Given the description of an element on the screen output the (x, y) to click on. 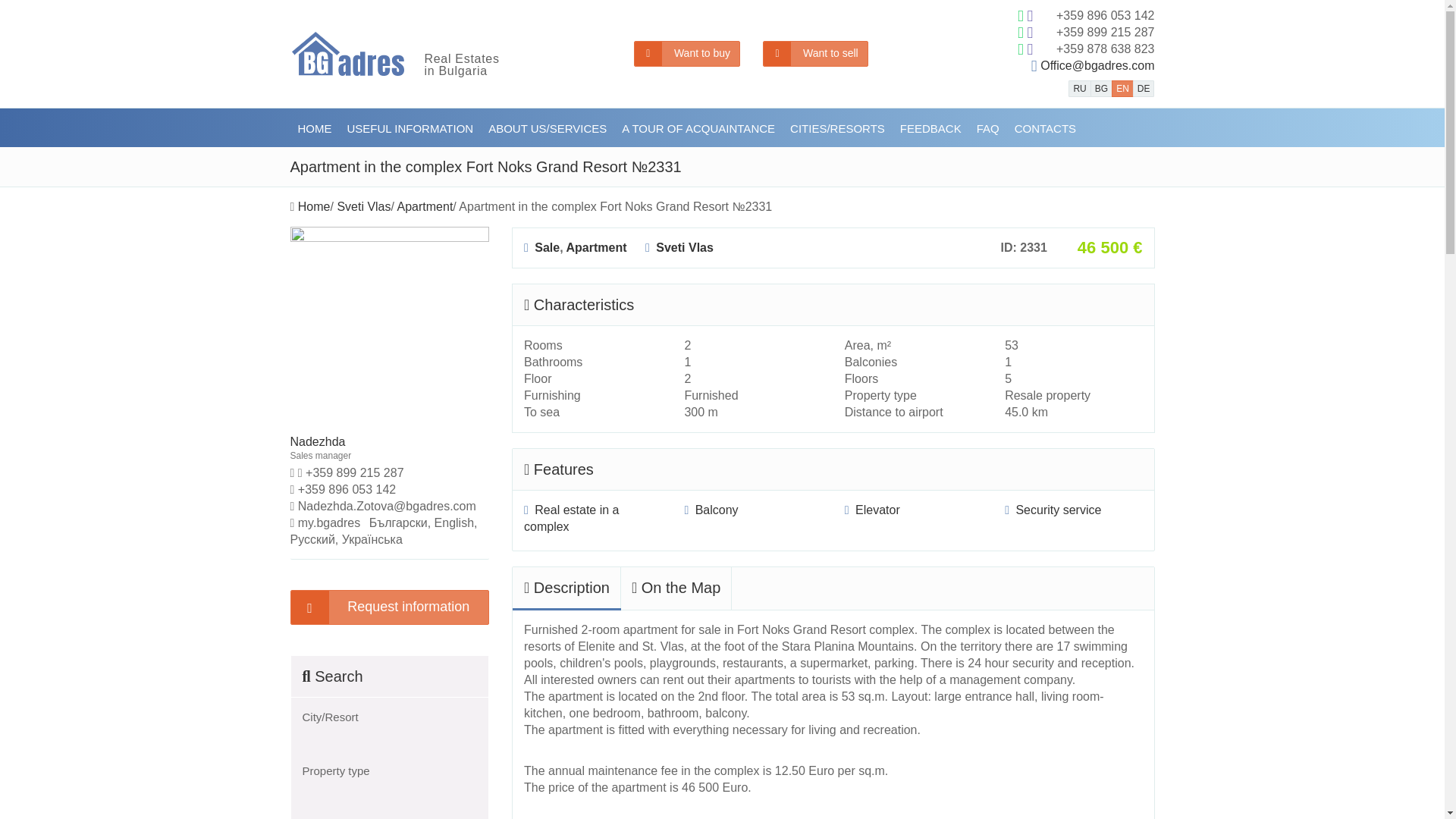
FAQ (988, 127)
Want to sell (814, 53)
RU (1079, 88)
CONTACTS (1045, 127)
Sveti Vlas (363, 205)
FEEDBACK (930, 127)
BG (1101, 88)
Home (314, 205)
DE (1143, 88)
A TOUR OF ACQUAINTANCE (698, 127)
